Given the description of an element on the screen output the (x, y) to click on. 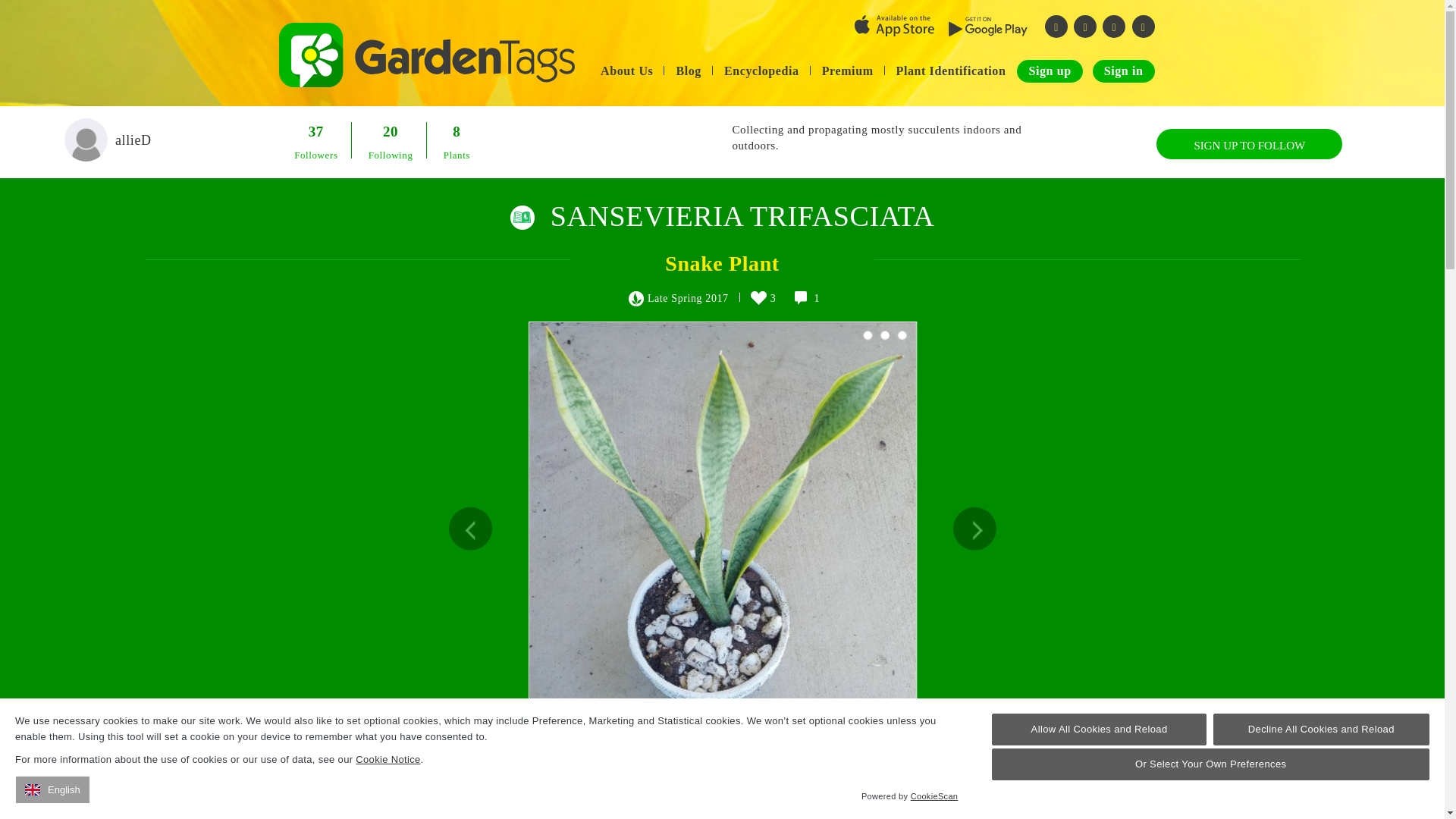
allieD (377, 804)
Profile Image Allie D. (85, 139)
Sign up (1048, 70)
Sign up (1048, 70)
SANSEVIERIA TRIFASCIATA (742, 215)
Plant Identification (951, 71)
app store logo (894, 25)
plant image 411306 (698, 491)
Plant Identification (951, 71)
Encyclopedia (761, 71)
